Given the description of an element on the screen output the (x, y) to click on. 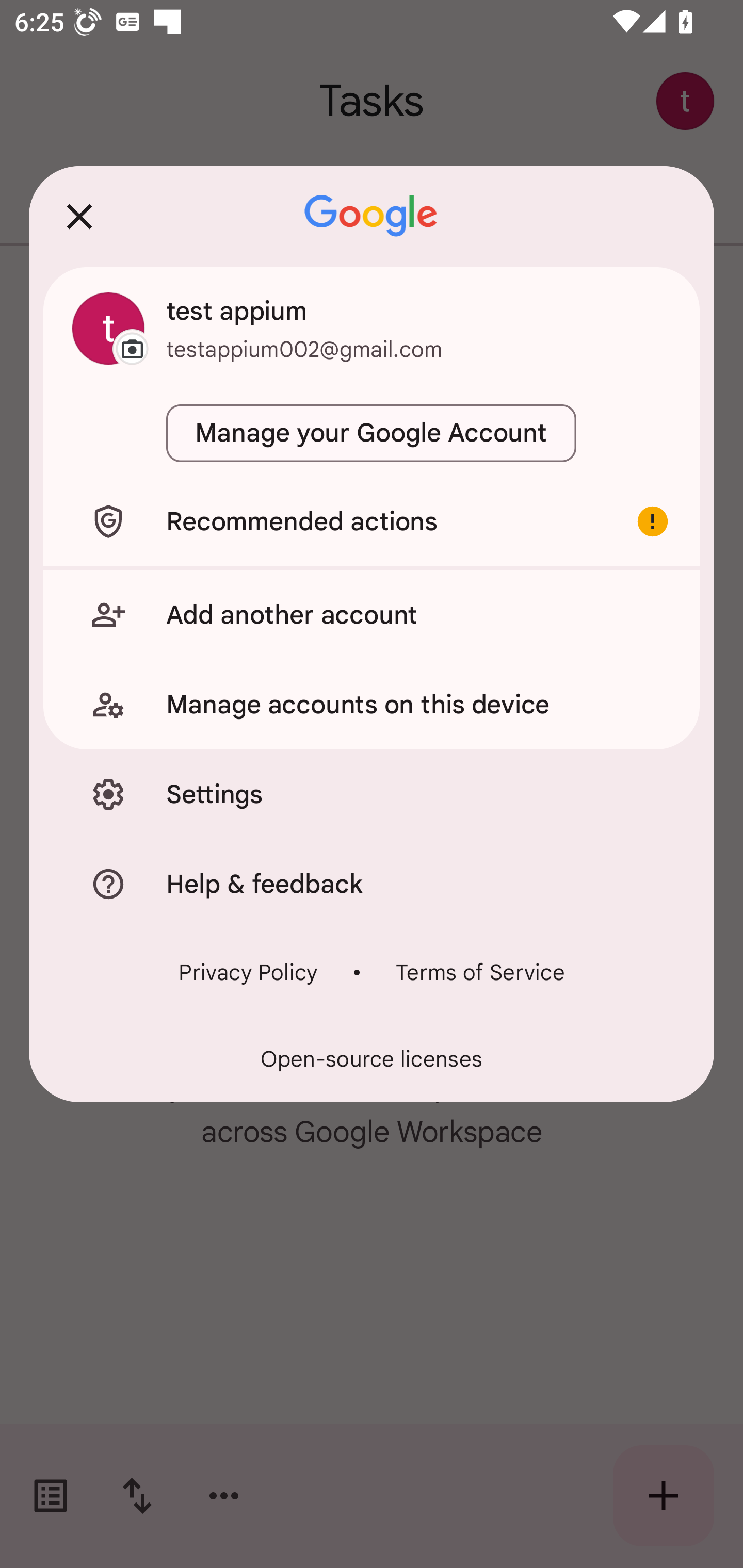
Close (79, 216)
Change profile picture. (108, 328)
Manage your Google Account (371, 433)
Recommended actions Important account alert (371, 521)
Add another account (371, 614)
Manage accounts on this device (371, 704)
Settings (371, 793)
Help & feedback (371, 883)
Privacy Policy (247, 972)
Terms of Service (479, 972)
Open-source licenses (371, 1059)
